Given the description of an element on the screen output the (x, y) to click on. 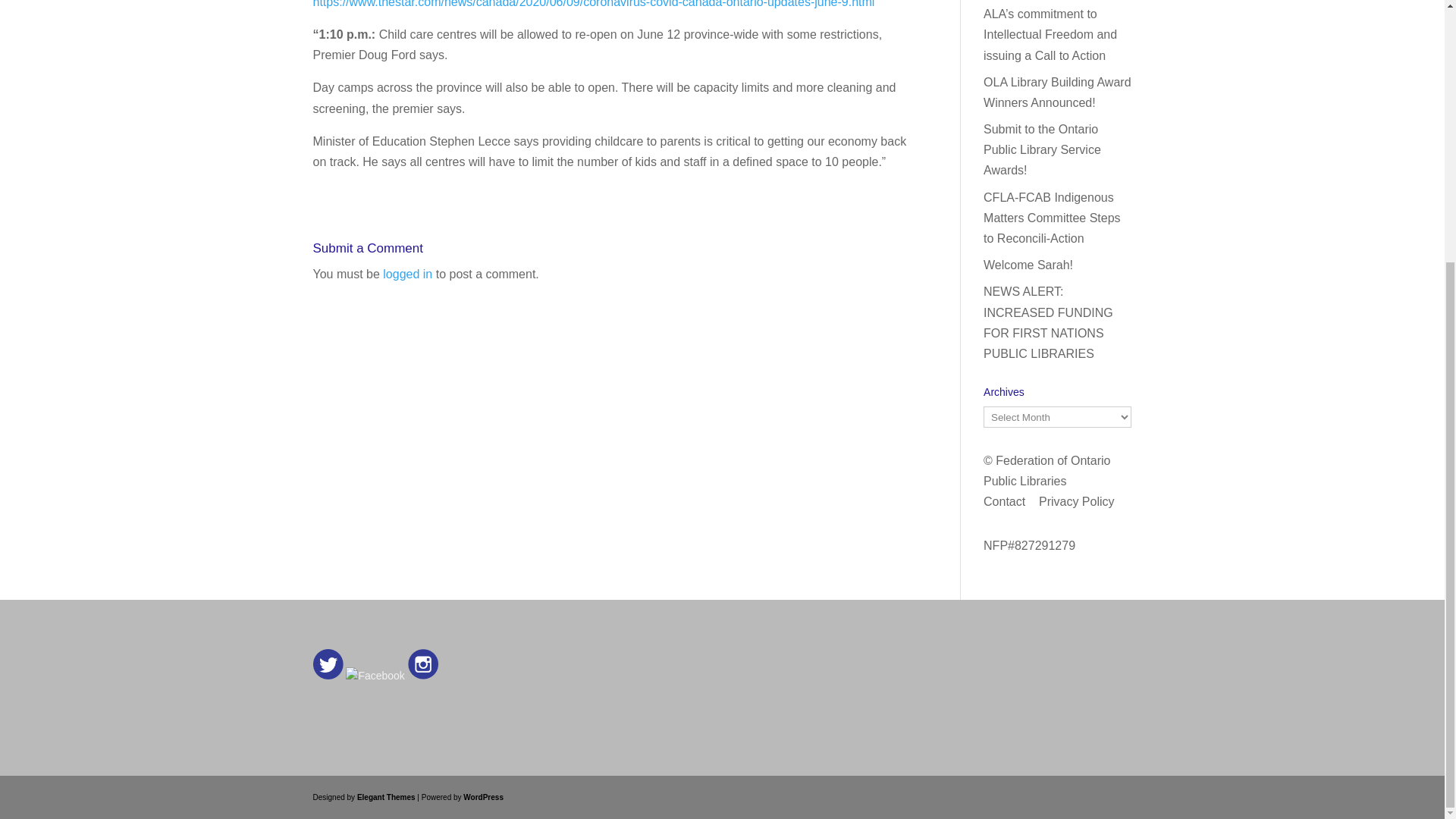
Contact (1004, 501)
Premium WordPress Themes (385, 797)
Privacy Policy (1077, 501)
